Given the description of an element on the screen output the (x, y) to click on. 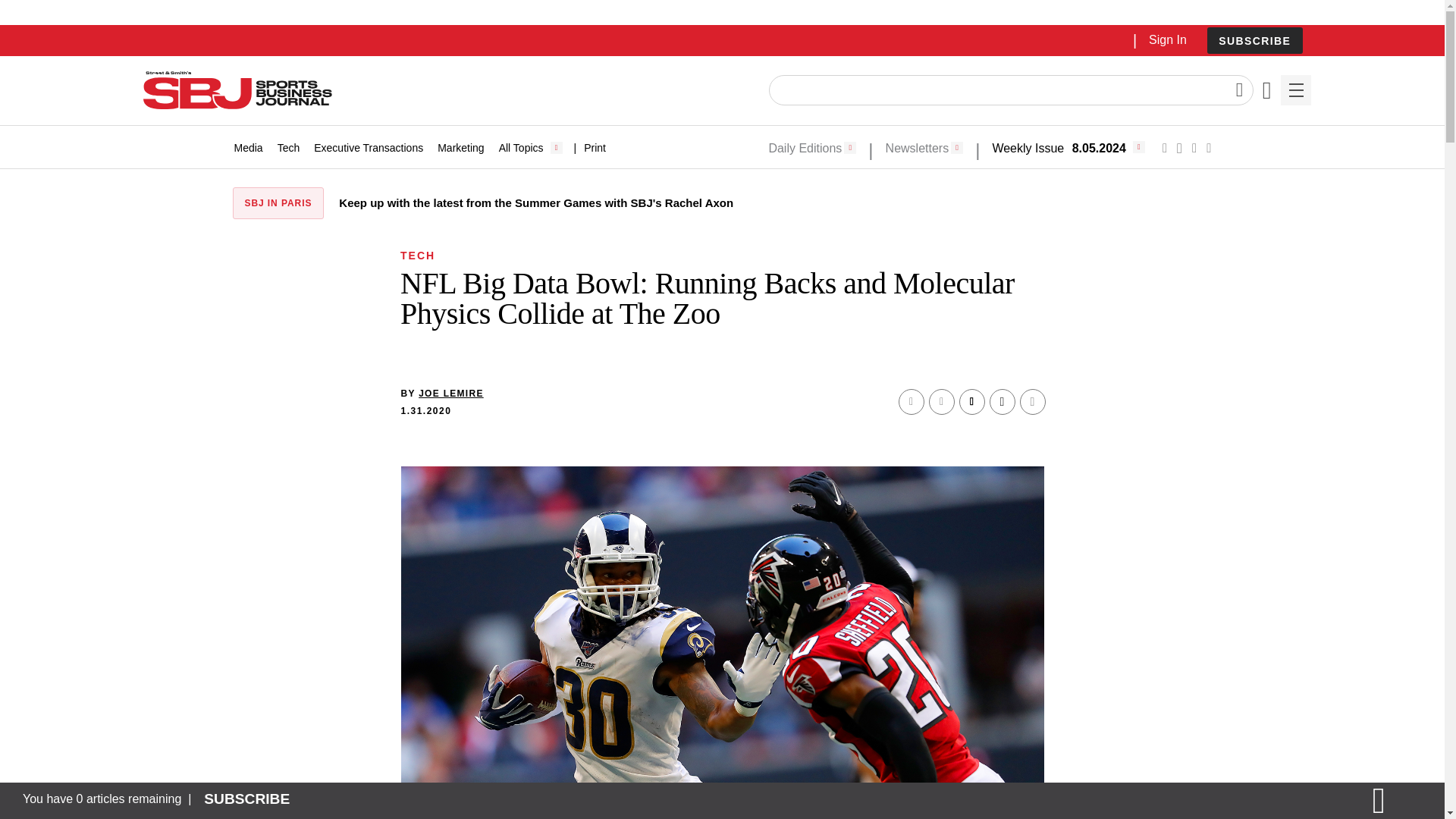
SIGN IN (1194, 324)
Menu (1294, 90)
Sign In (1167, 40)
SUBSCRIBE (1254, 40)
SUBSCRIBE (1255, 40)
